Given the description of an element on the screen output the (x, y) to click on. 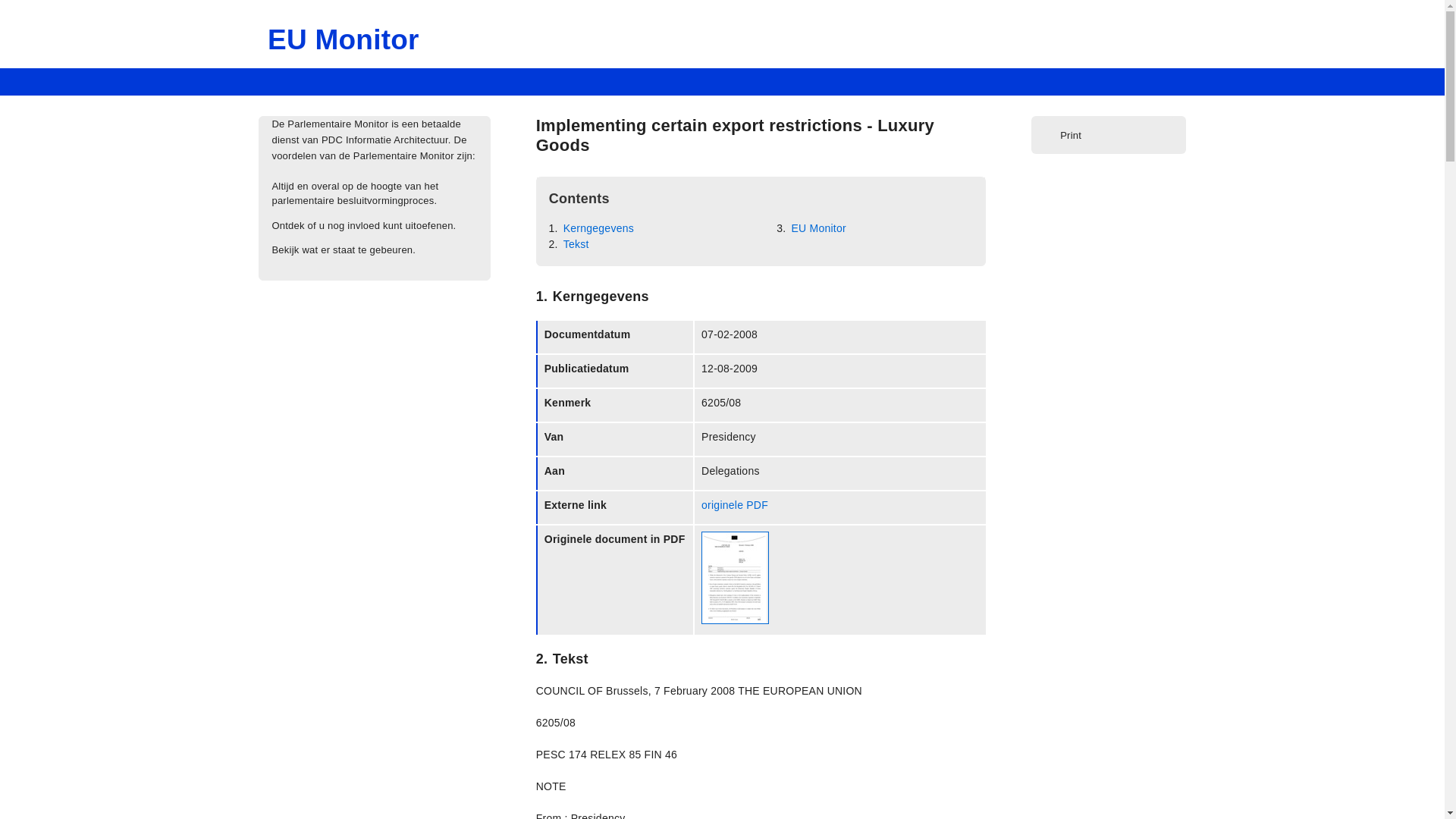
EU Monitor (343, 39)
Print (1064, 135)
EU Monitor (817, 228)
Implementing certain export restrictions - Luxury Goods (734, 135)
Tekst (574, 244)
originele PDF (734, 504)
Kerngegevens (596, 228)
naar Home (343, 39)
